Given the description of an element on the screen output the (x, y) to click on. 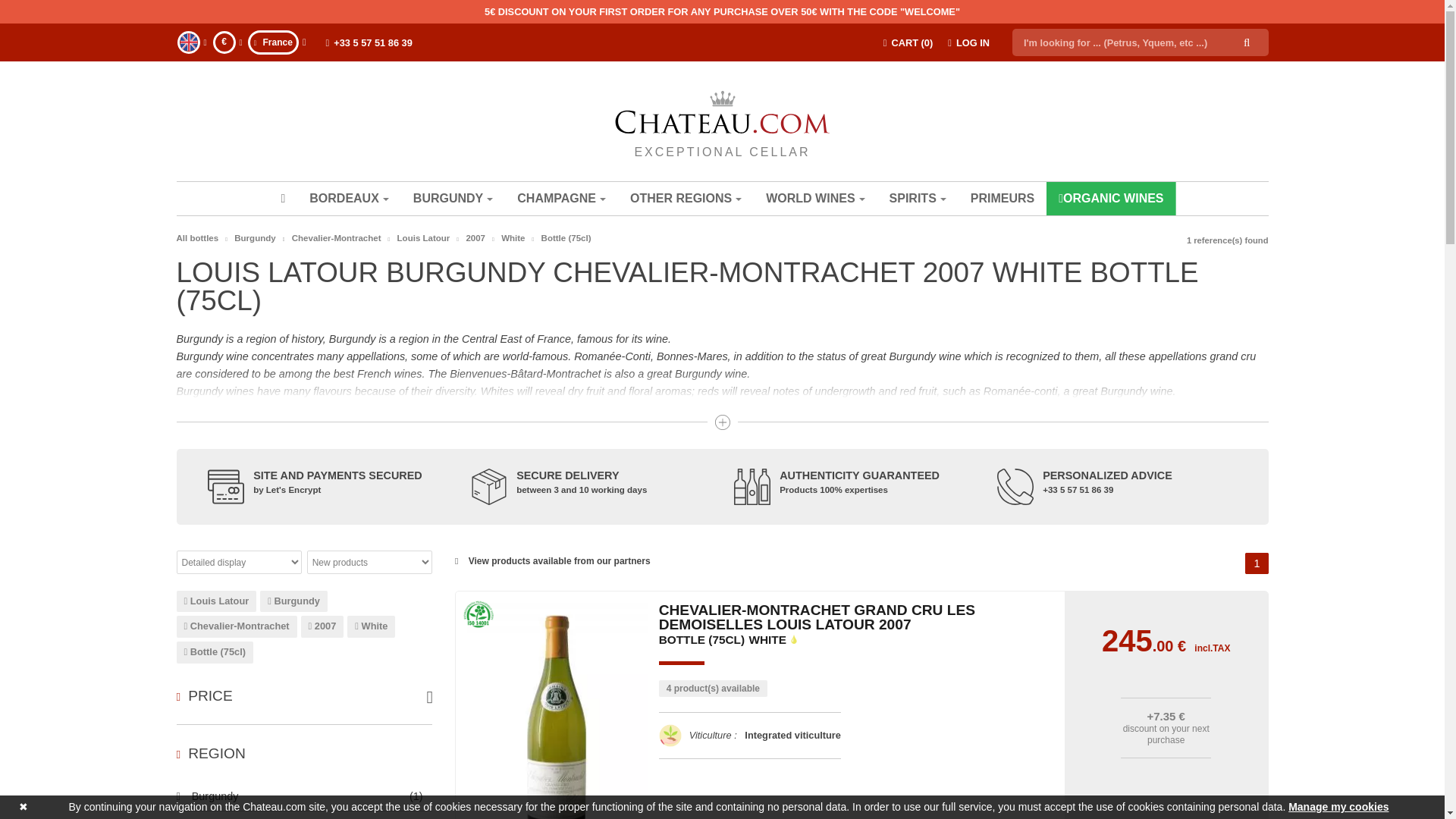
Birthday vintages (312, 502)
OTHER REGIONS (685, 198)
ORGANIC WINES (1110, 198)
Cookie management (312, 585)
PRIMEURS (1002, 198)
WORLD WINES (815, 198)
SPIRITS (917, 198)
OK (847, 396)
France (304, 41)
BORDEAUX (349, 198)
0 (282, 198)
Quality charter (312, 620)
CHAMPAGNE (561, 198)
Terms and conditions of sale (312, 670)
